Given the description of an element on the screen output the (x, y) to click on. 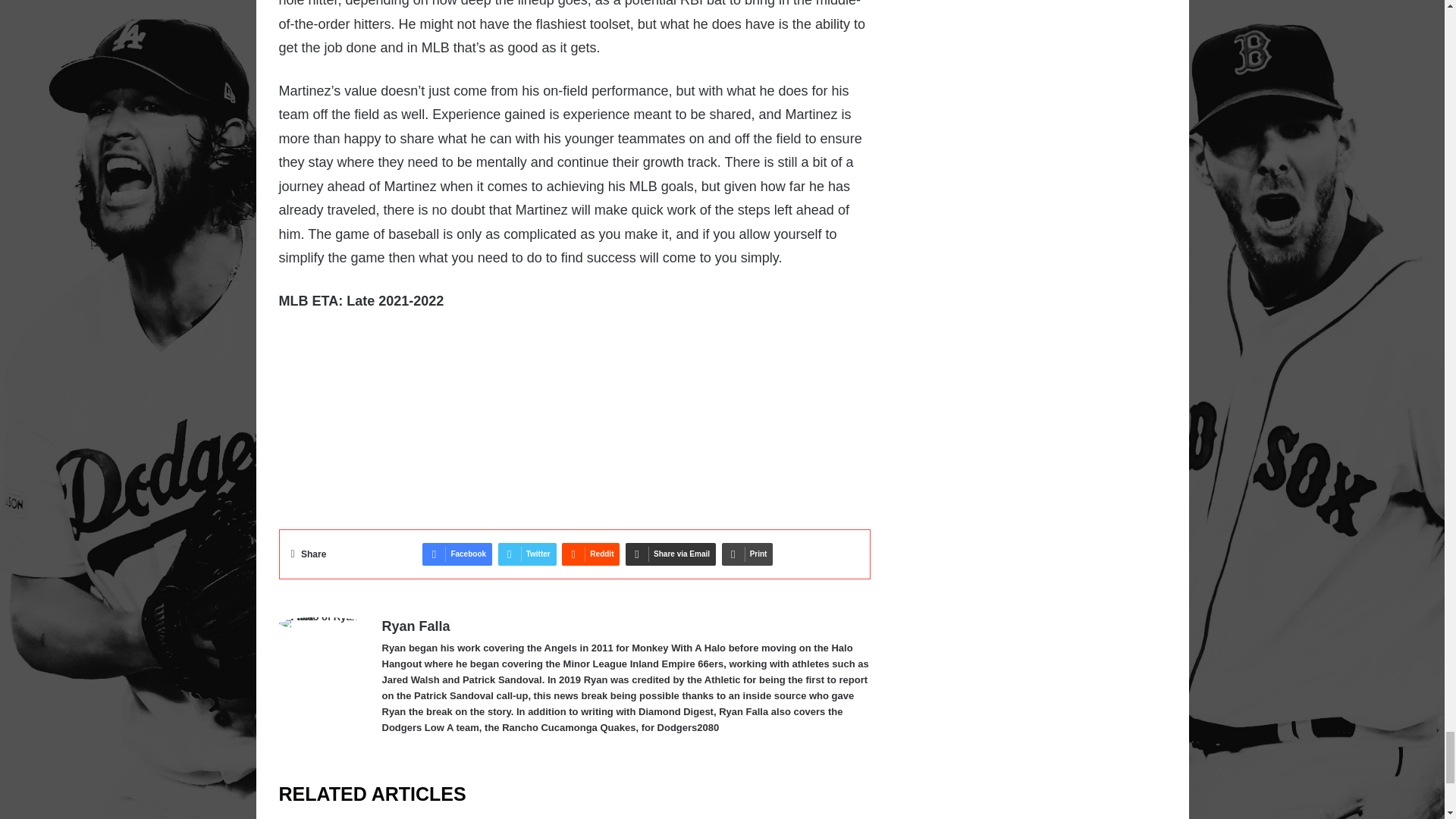
Share via Email (671, 553)
Twitter (526, 553)
Facebook (457, 553)
Print (747, 553)
Reddit (591, 553)
